Given the description of an element on the screen output the (x, y) to click on. 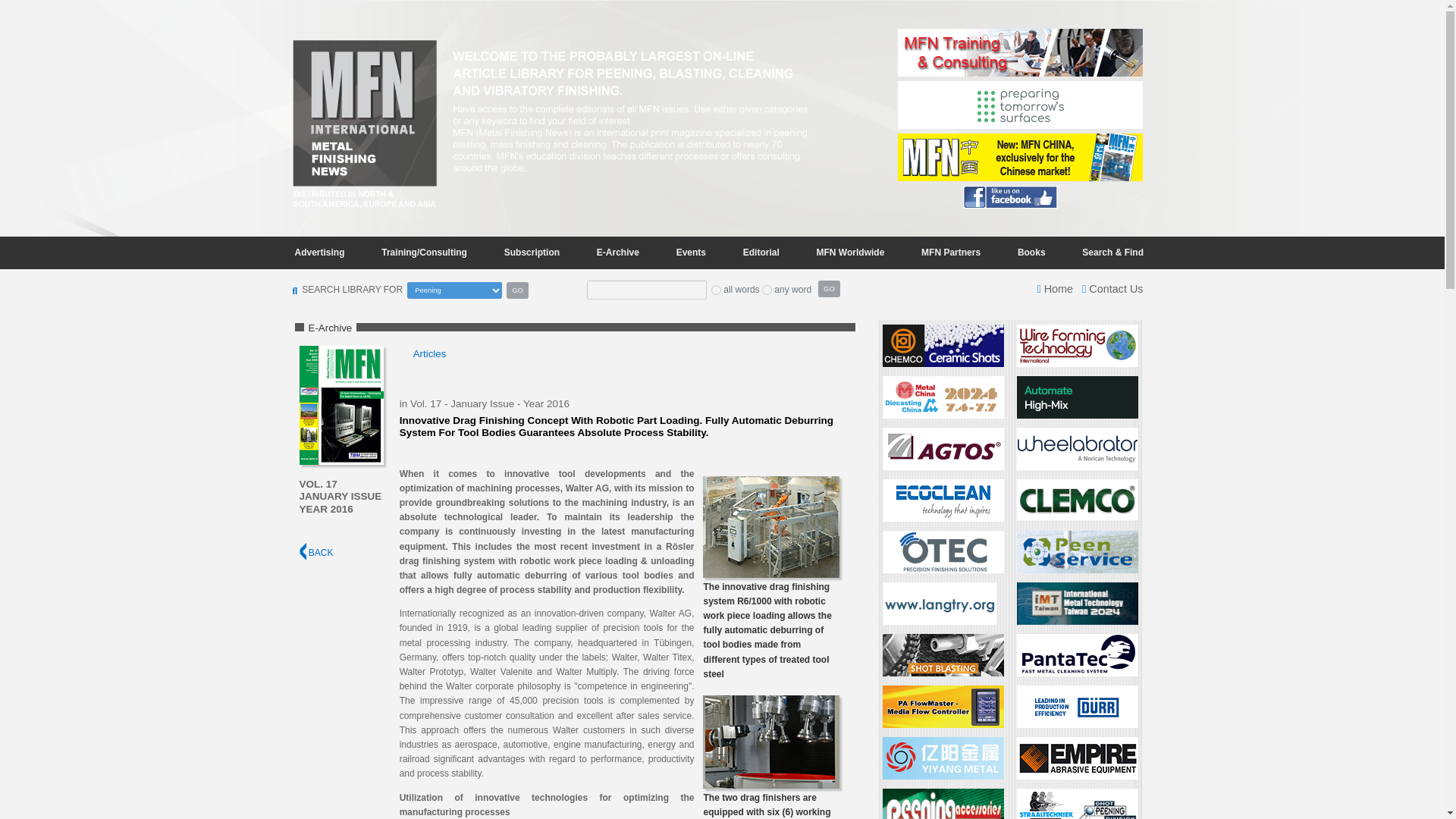
BACK (315, 552)
OR (766, 289)
Subscription (531, 252)
Advertising (319, 252)
Books (1031, 252)
MFN Worldwide (850, 252)
Contact Us (1111, 288)
GO (829, 288)
Editorial (761, 252)
GO (517, 289)
AND (715, 289)
MFN Partners (951, 252)
Home (1054, 288)
E-Archive (617, 252)
Events (690, 252)
